Given the description of an element on the screen output the (x, y) to click on. 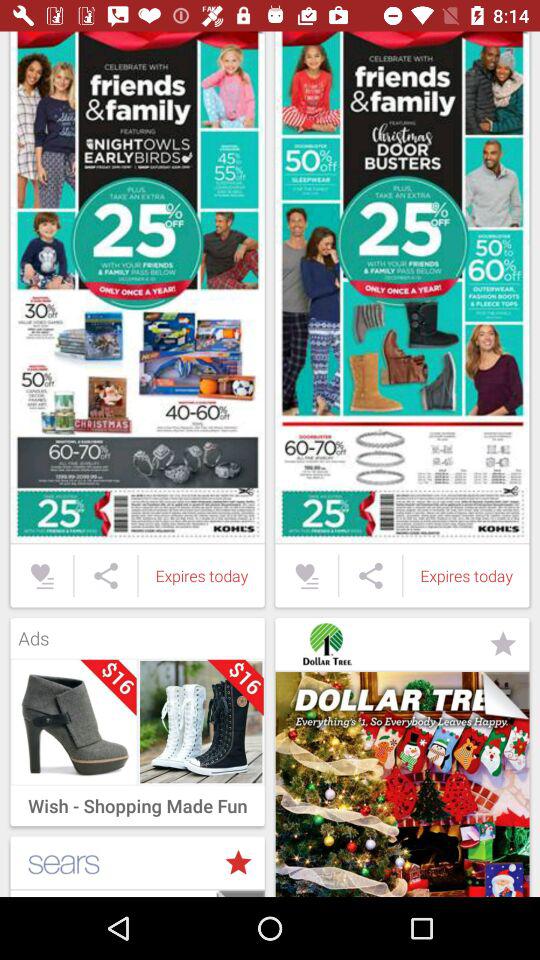
choose the wish shopping made icon (137, 800)
